Given the description of an element on the screen output the (x, y) to click on. 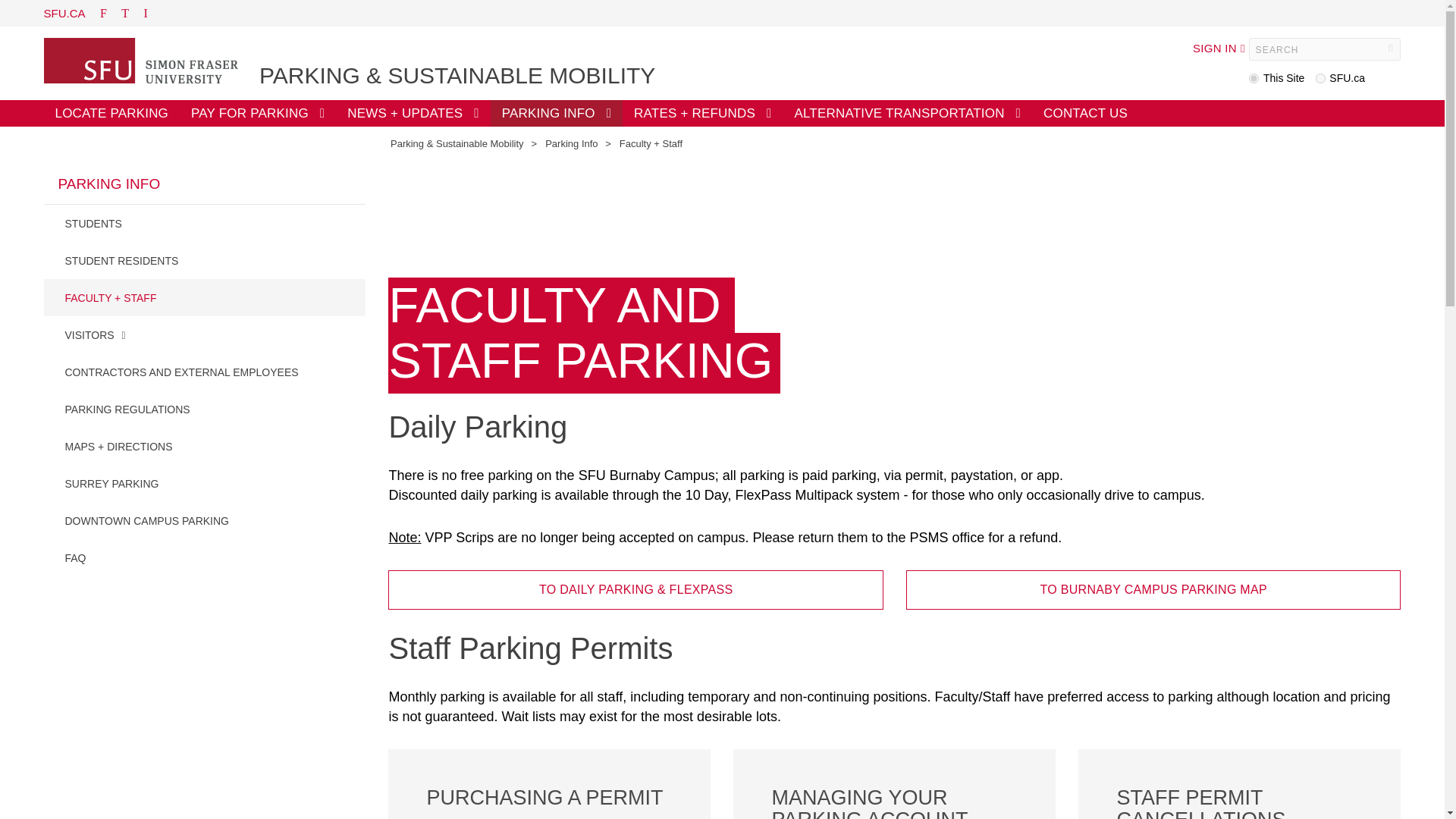
site (1254, 78)
SFU.CA (64, 11)
CONTACT US (1085, 112)
PARKING INFO (556, 112)
sfu (1320, 78)
ALTERNATIVE TRANSPORTATION (907, 112)
PAY FOR PARKING (257, 112)
LOCATE PARKING (111, 112)
